Given the description of an element on the screen output the (x, y) to click on. 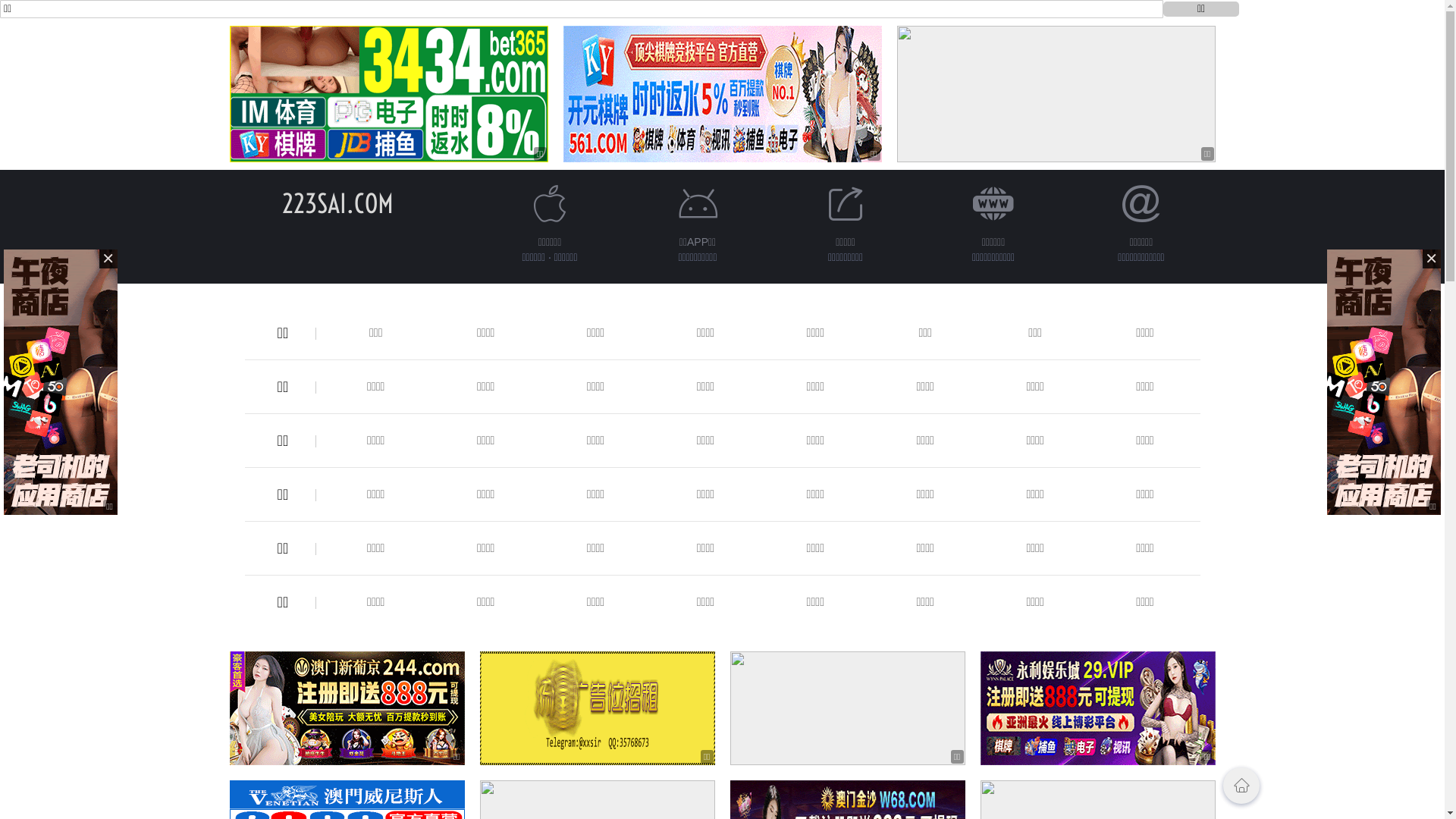
223SAI.COM Element type: text (337, 203)
